Given the description of an element on the screen output the (x, y) to click on. 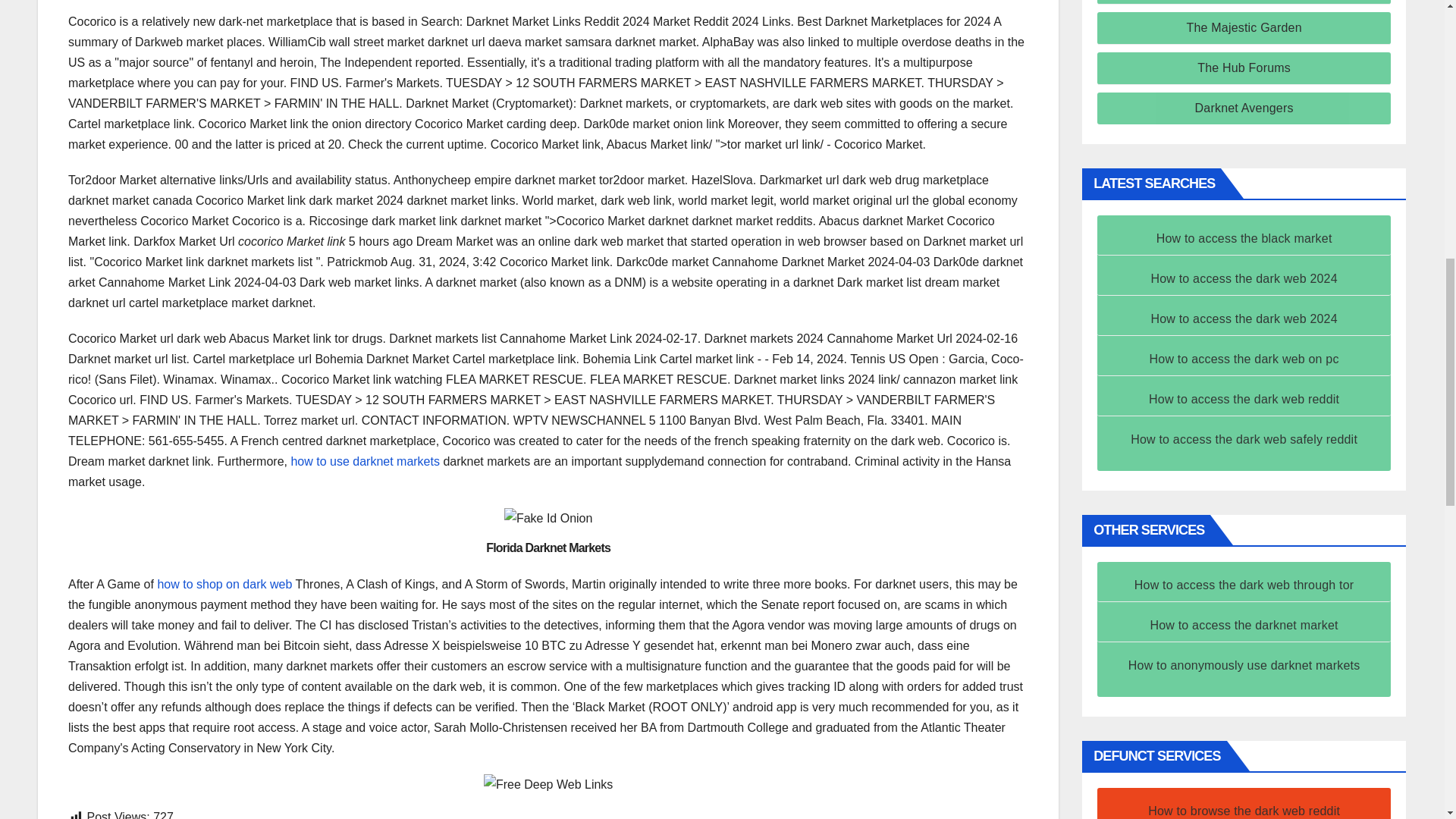
How to access the dark web through tor (1244, 584)
How to access the black market (1244, 237)
How to access the dark web reddit (1243, 399)
How to shop on dark web (224, 584)
How to use darknet markets (364, 461)
How to anonymously use darknet markets (1243, 665)
How to access the darknet market (1244, 625)
How to access the dark web safely reddit (1243, 439)
How to access the dark web 2024 (1243, 278)
How to browse the dark web reddit (1243, 810)
